Given the description of an element on the screen output the (x, y) to click on. 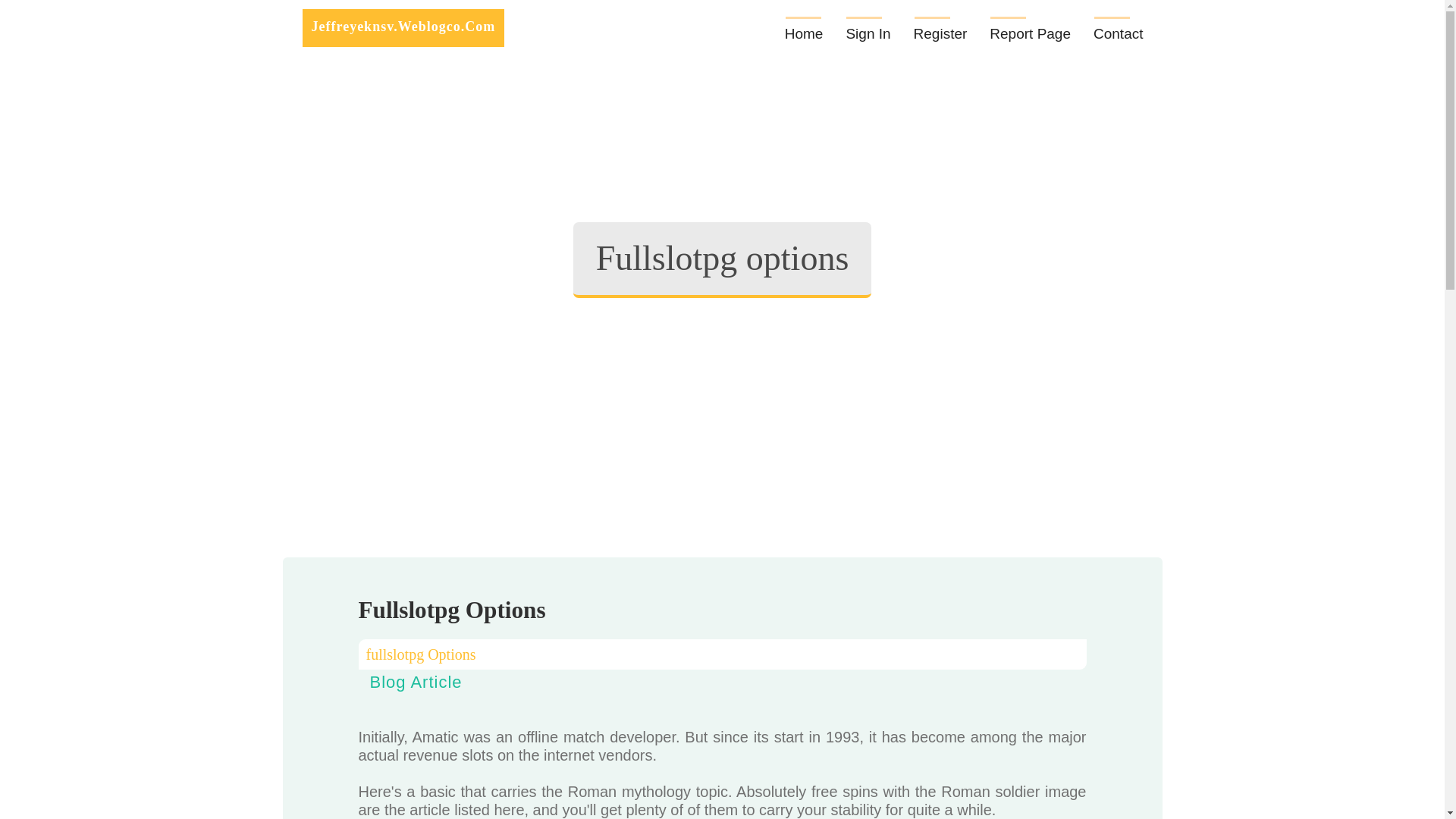
Register (940, 28)
Sign In (867, 28)
Contact (1117, 28)
Jeffreyeknsv.Weblogco.Com (402, 27)
Report Page (1029, 28)
Home (803, 28)
